Given the description of an element on the screen output the (x, y) to click on. 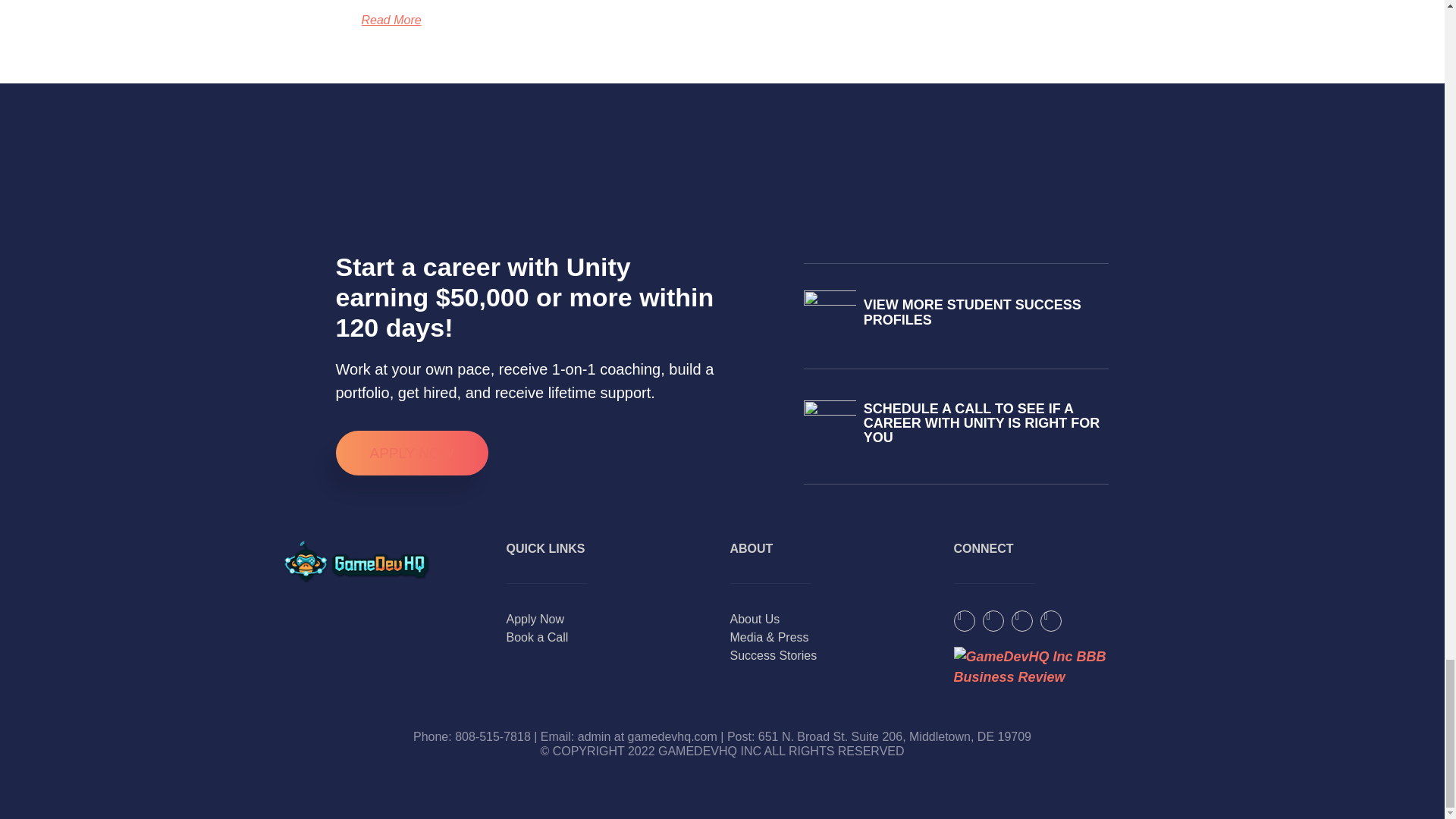
Read More (390, 20)
APPLY NOW (410, 452)
